Given the description of an element on the screen output the (x, y) to click on. 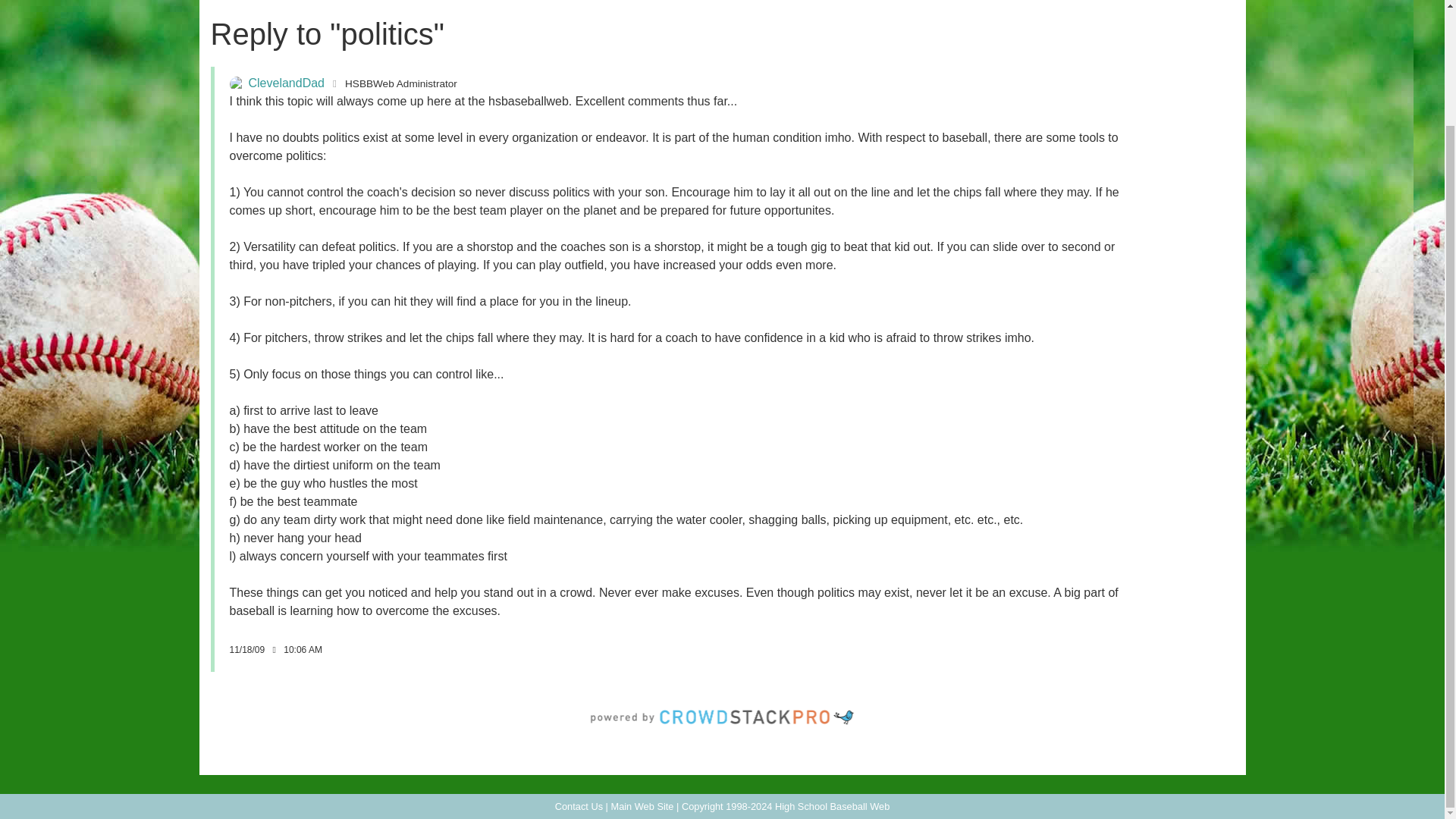
ClevelandDad (236, 83)
GENERAL HSBBWEB FORUMS (463, 22)
ANNOUNCEMENTS (463, 49)
ALL TOPICS (463, 4)
